Given the description of an element on the screen output the (x, y) to click on. 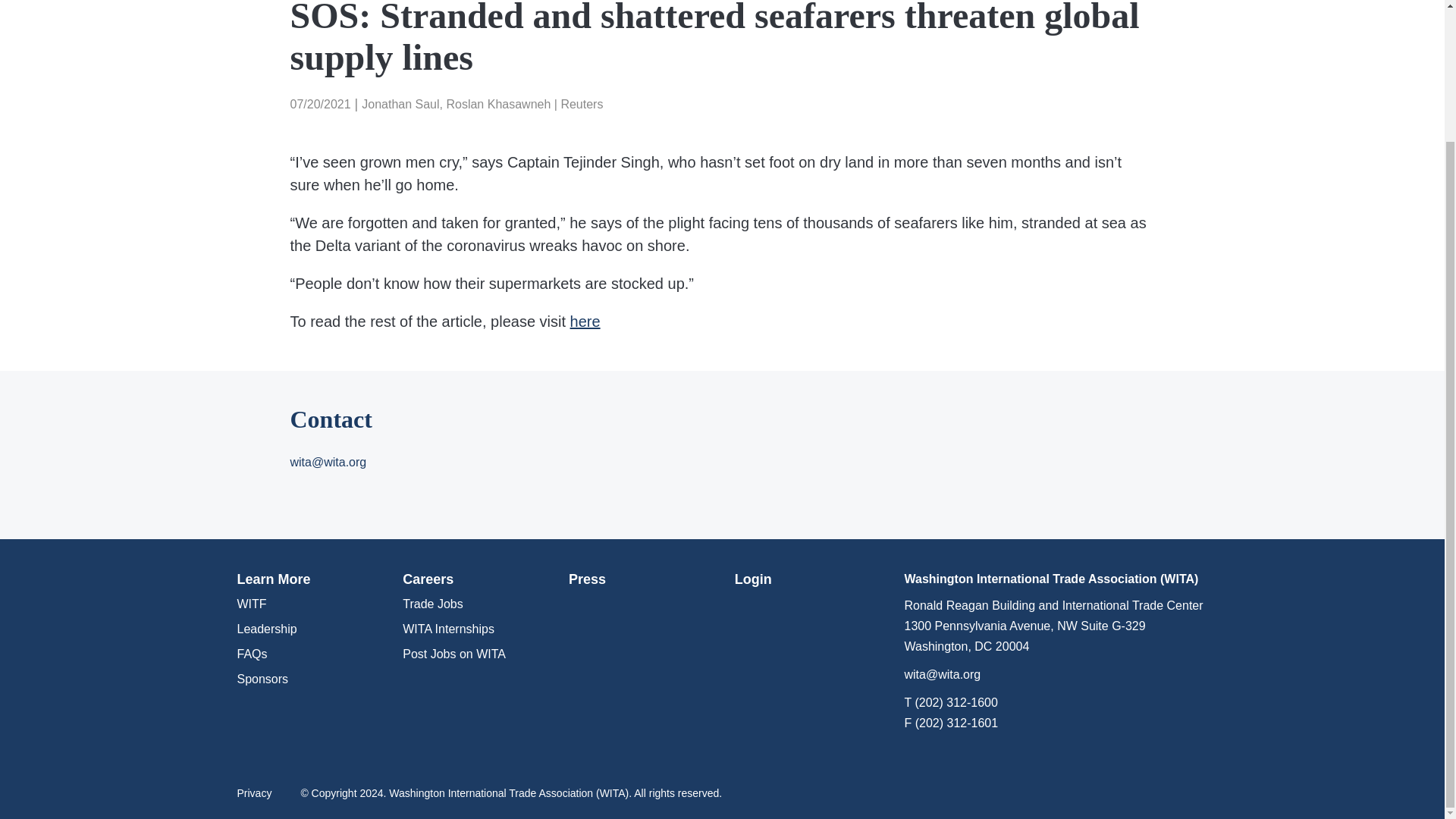
here (584, 321)
